Given the description of an element on the screen output the (x, y) to click on. 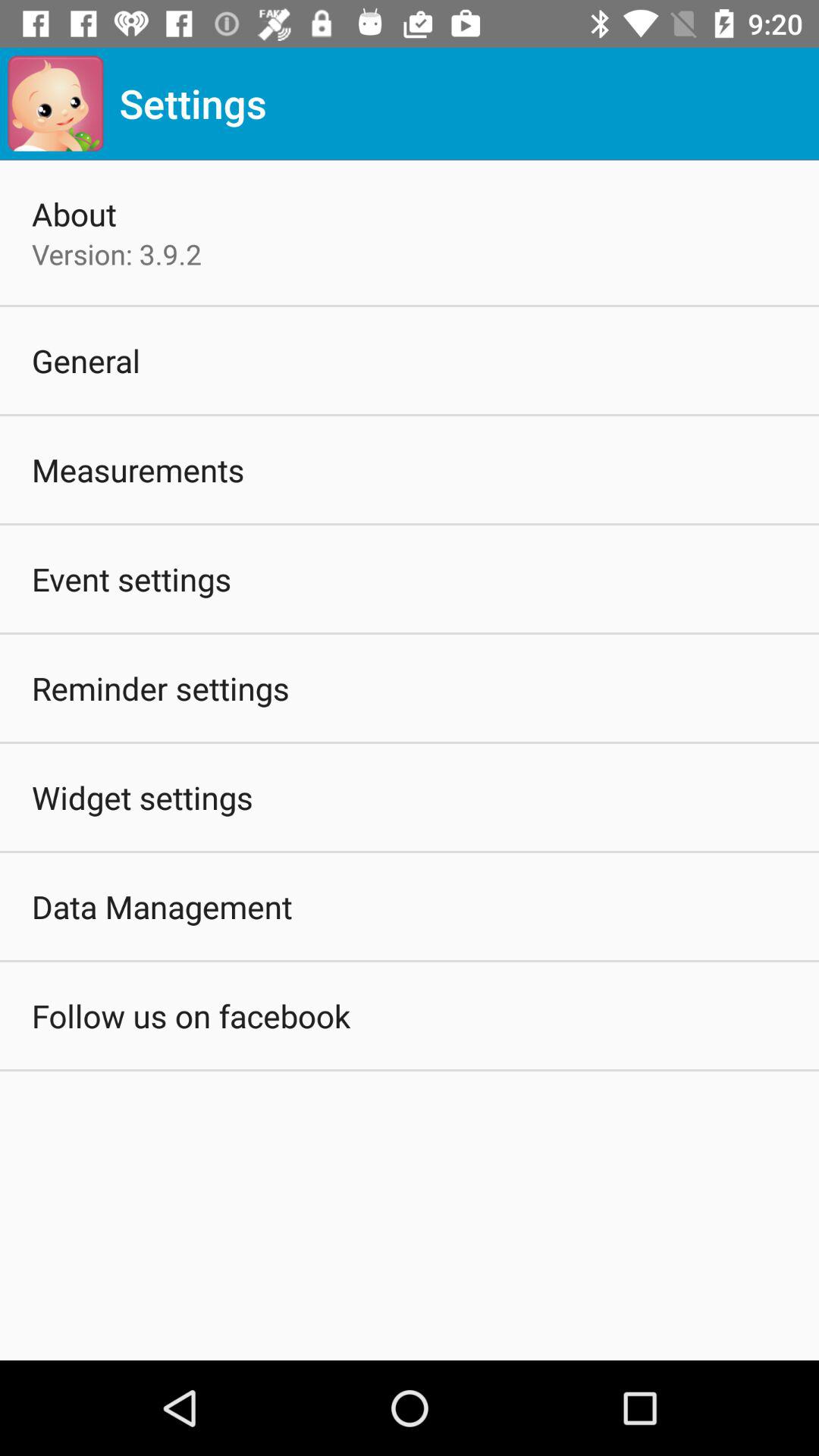
press the item below reminder settings (142, 797)
